Given the description of an element on the screen output the (x, y) to click on. 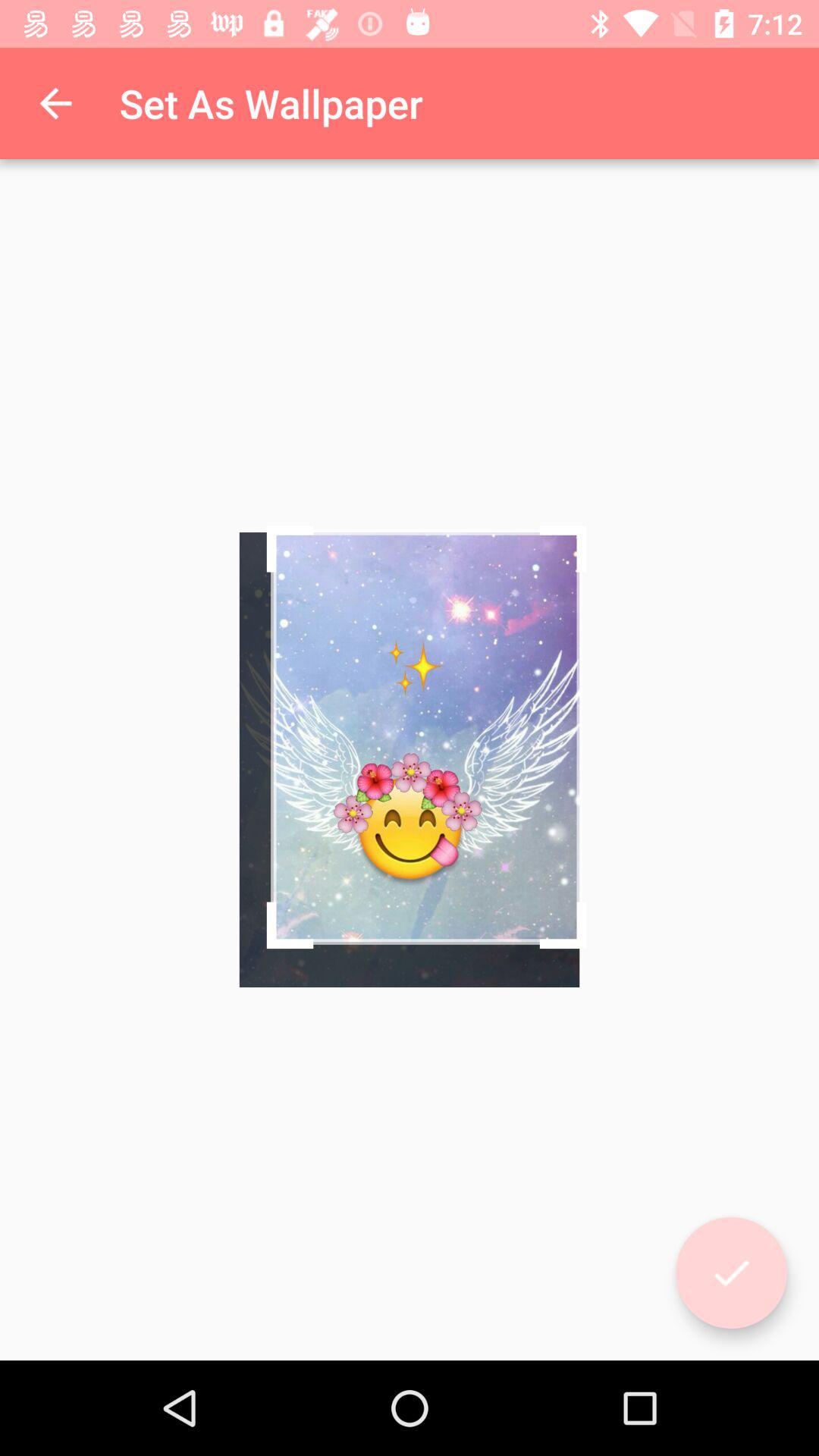
select wallpaper (731, 1272)
